Given the description of an element on the screen output the (x, y) to click on. 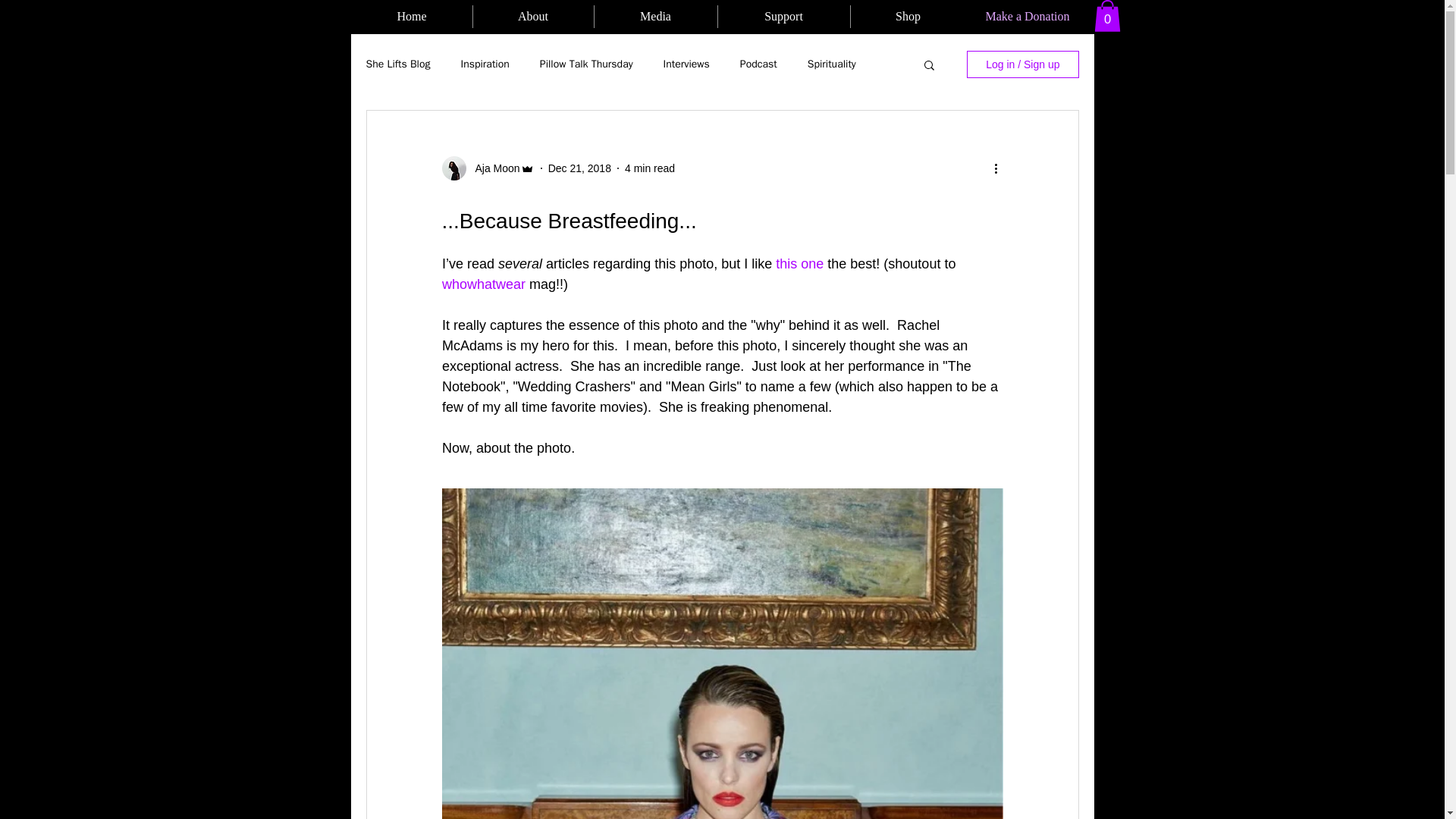
Aja Moon (492, 168)
this one (800, 263)
About (533, 15)
Inspiration (485, 64)
Pillow Talk Thursday (586, 64)
Spirituality (832, 64)
Interviews (686, 64)
Make a Donation (1027, 16)
Home (411, 15)
Podcast (758, 64)
She Lifts Blog (397, 64)
Shop (908, 15)
Dec 21, 2018 (579, 168)
4 min read (649, 168)
whowhatwear (482, 283)
